Given the description of an element on the screen output the (x, y) to click on. 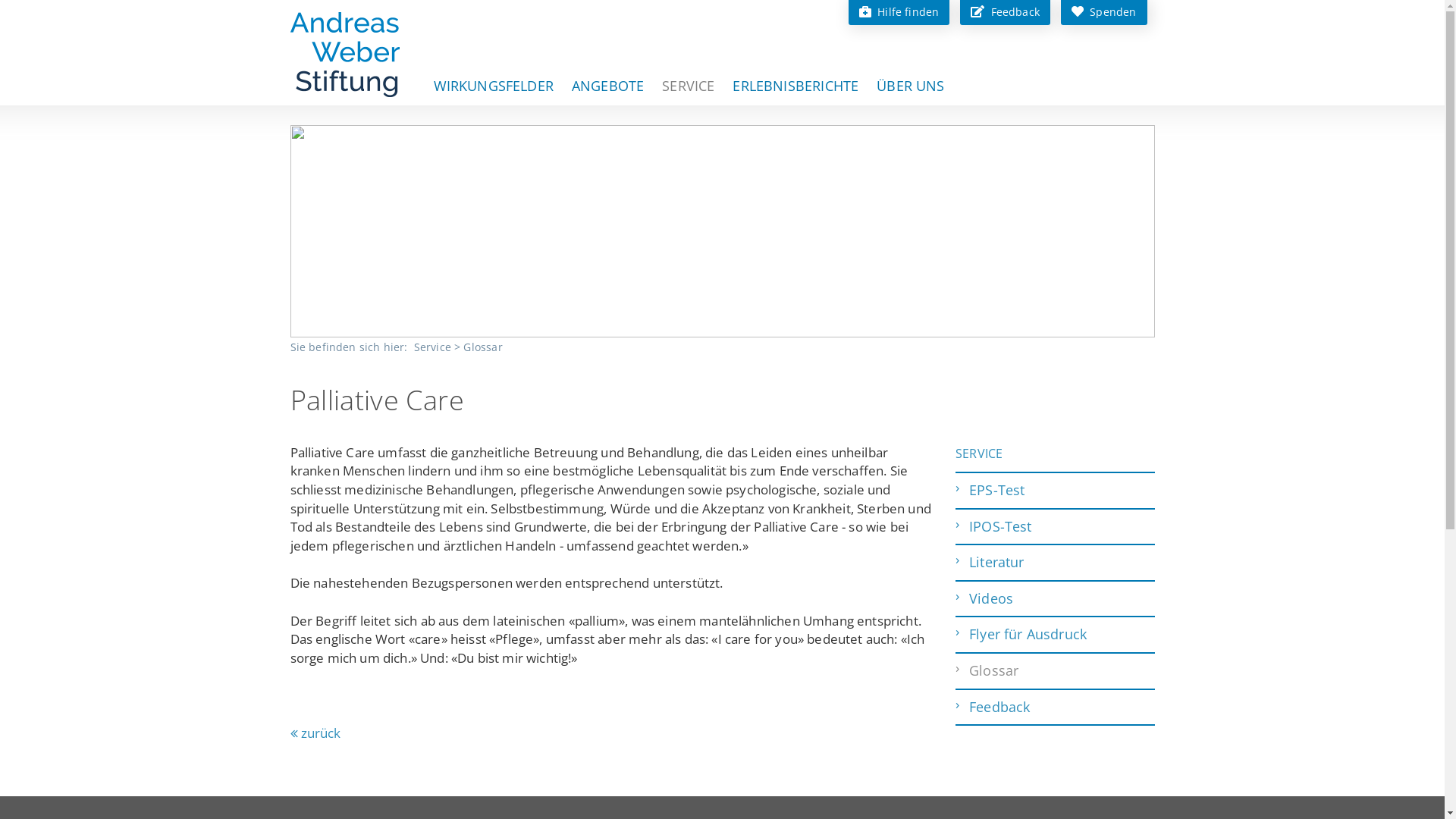
Glossar Element type: text (1054, 670)
Spenden Element type: text (1103, 10)
Literatur Element type: text (1054, 562)
ERLEBNISBERICHTE Element type: text (795, 85)
IPOS-Test Element type: text (1054, 526)
SERVICE Element type: text (687, 85)
EPS-Test Element type: text (1054, 490)
Feedback Element type: text (1054, 707)
Feedback Element type: text (1004, 10)
Hilfe finden Element type: text (898, 10)
ANGEBOTE Element type: text (607, 85)
WIRKUNGSFELDER Element type: text (493, 85)
Service Element type: text (434, 346)
SERVICE Element type: text (978, 453)
Videos Element type: text (1054, 598)
Glossar Element type: text (482, 346)
